Given the description of an element on the screen output the (x, y) to click on. 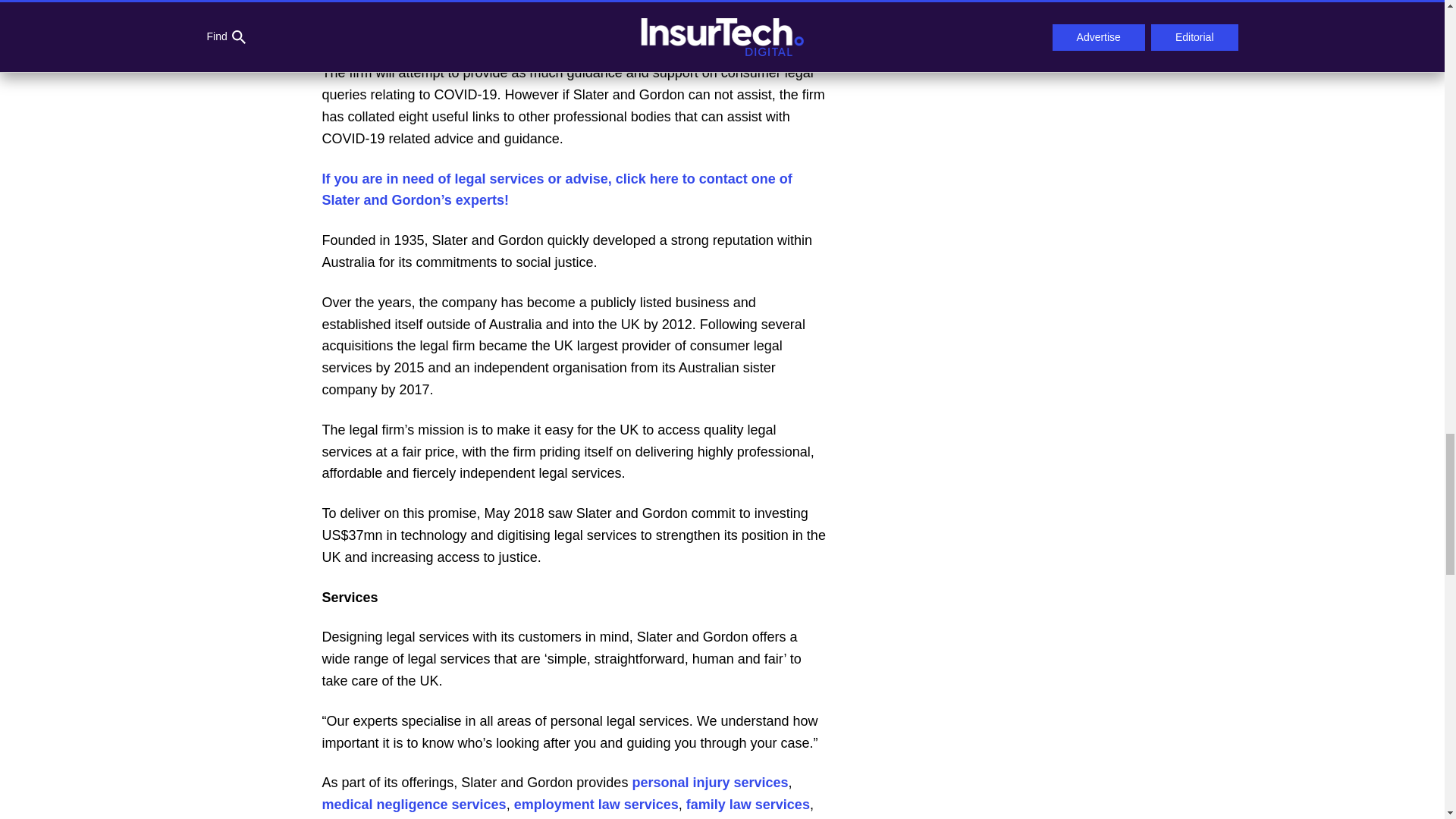
family law services (747, 804)
medical negligence services (413, 804)
employment law services (595, 804)
personal injury services (709, 782)
